Given the description of an element on the screen output the (x, y) to click on. 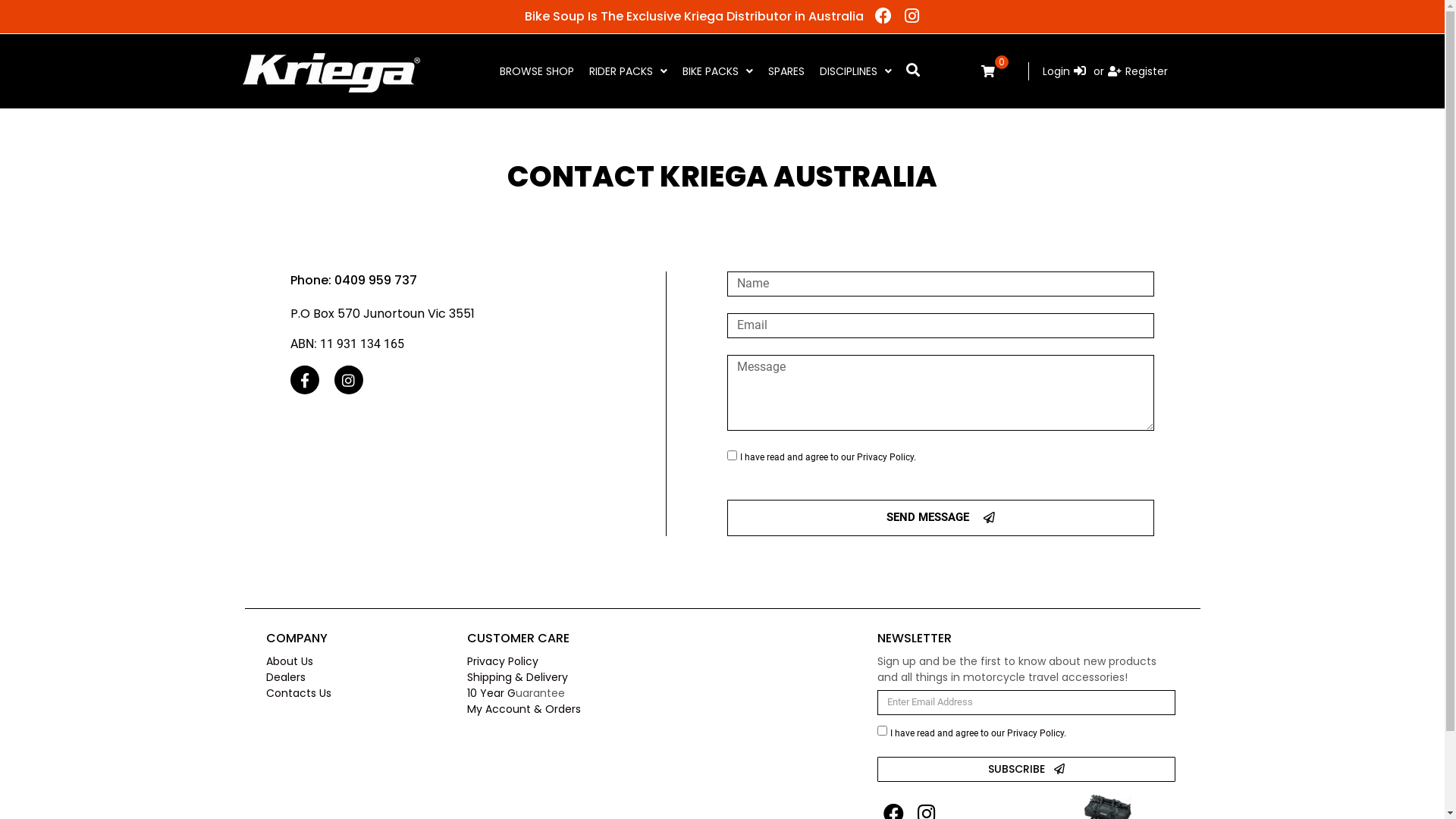
Privacy Policy Element type: text (502, 660)
BIKE PACKS Element type: text (717, 71)
Privacy Policy Element type: text (884, 456)
SUBSCRIBE Element type: text (1026, 768)
SEND MESSAGE Element type: text (940, 517)
About Us Element type: text (289, 660)
SPARES Element type: text (786, 71)
My Account & Orders Element type: text (523, 708)
Shipping & Delivery Element type: text (517, 676)
Contacts Us Element type: text (298, 692)
Dealers Element type: text (285, 676)
RIDER PACKS Element type: text (627, 71)
DISCIPLINES Element type: text (855, 71)
Register Element type: text (1137, 71)
Privacy Policy Element type: text (1035, 733)
BROWSE SHOP Element type: text (536, 71)
0 Element type: text (994, 71)
10 Year G Element type: text (491, 692)
